Given the description of an element on the screen output the (x, y) to click on. 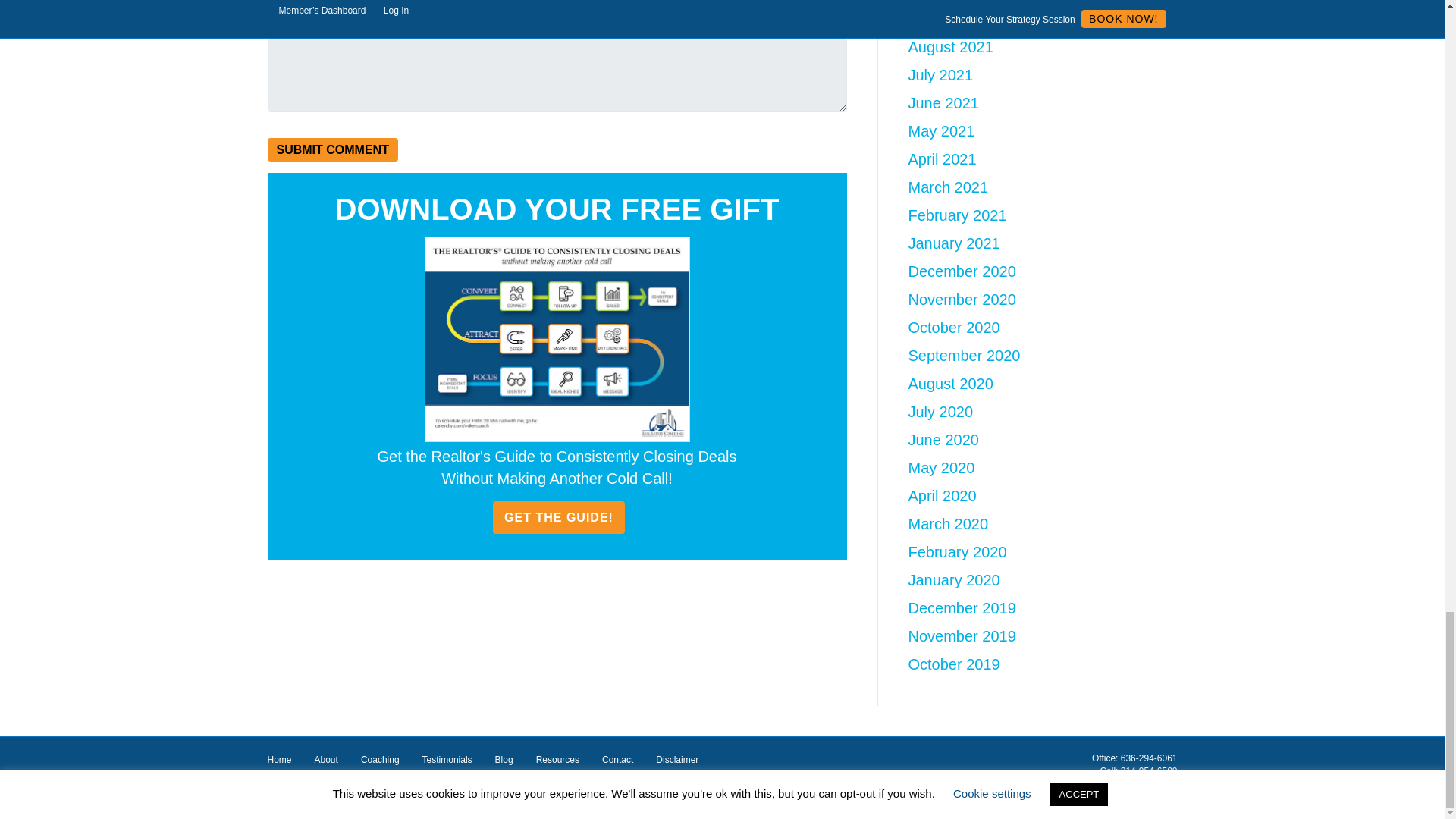
Submit Comment (331, 149)
Submit Comment (331, 149)
GET THE GUIDE! (558, 517)
